Given the description of an element on the screen output the (x, y) to click on. 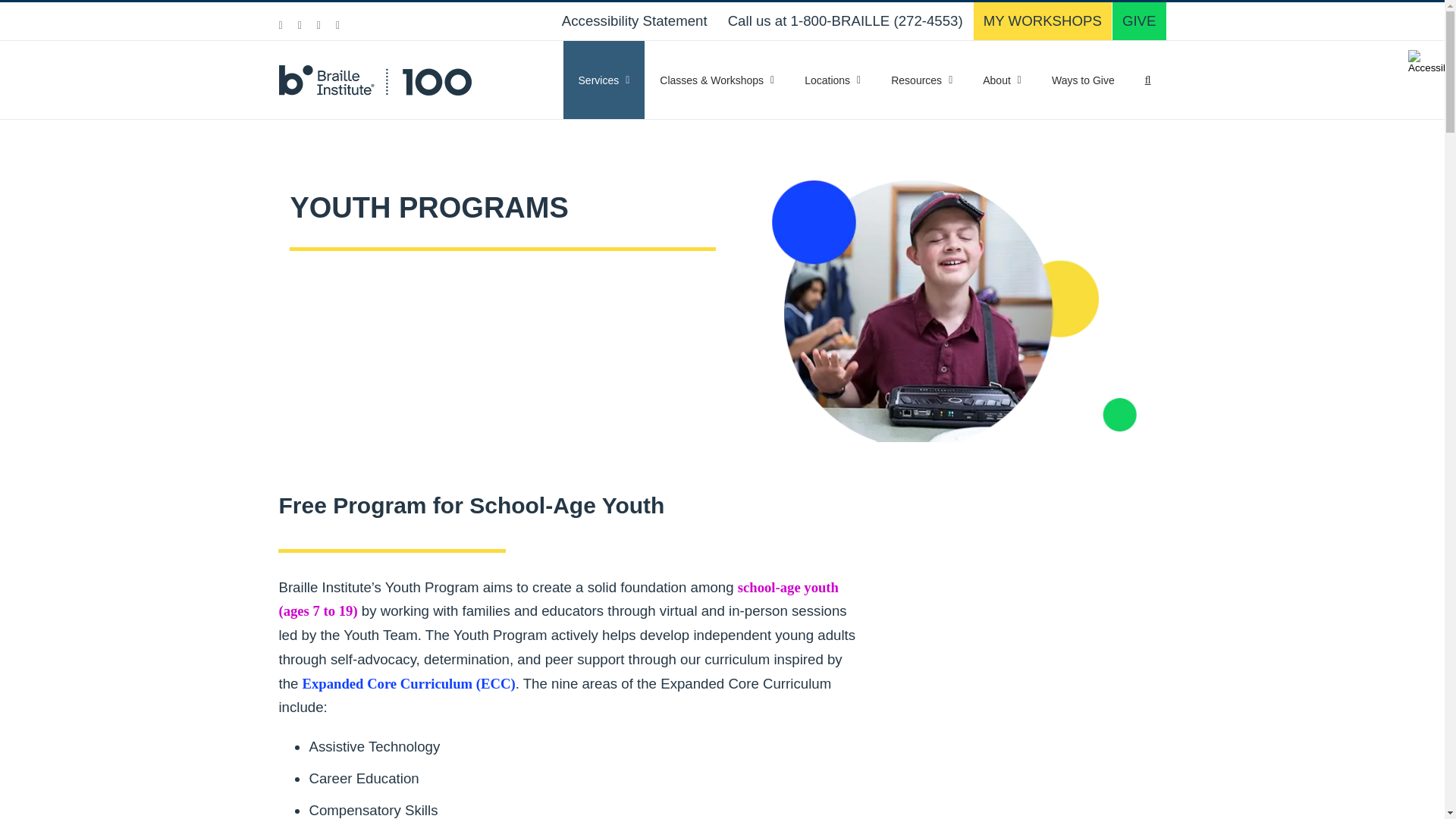
GIVE (1139, 21)
Locations (832, 79)
Services (604, 79)
Accessibility Statement (634, 21)
MY WORKSHOPS (1043, 21)
